Given the description of an element on the screen output the (x, y) to click on. 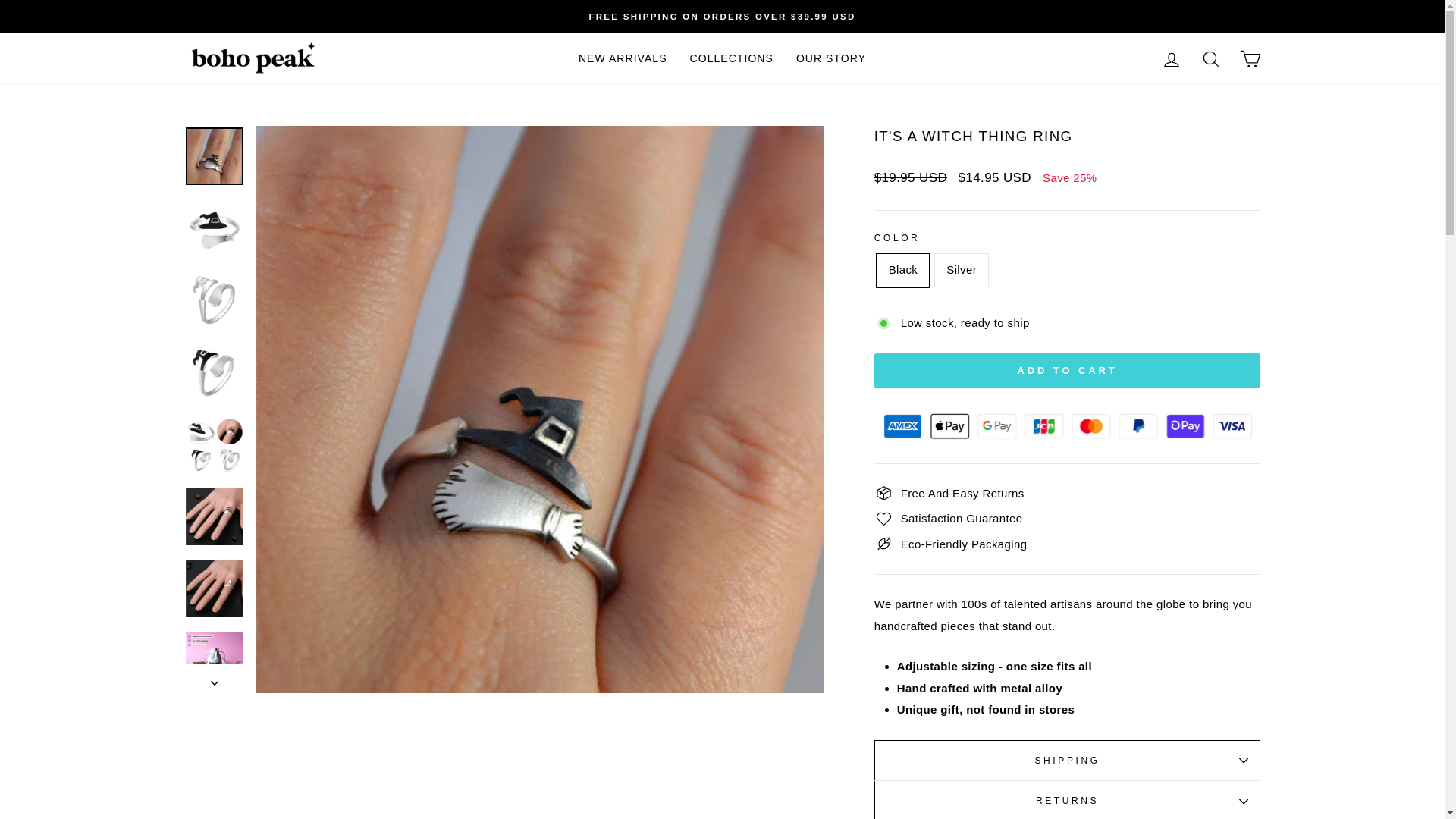
NEW ARRIVALS (622, 58)
COLLECTIONS (731, 58)
